Given the description of an element on the screen output the (x, y) to click on. 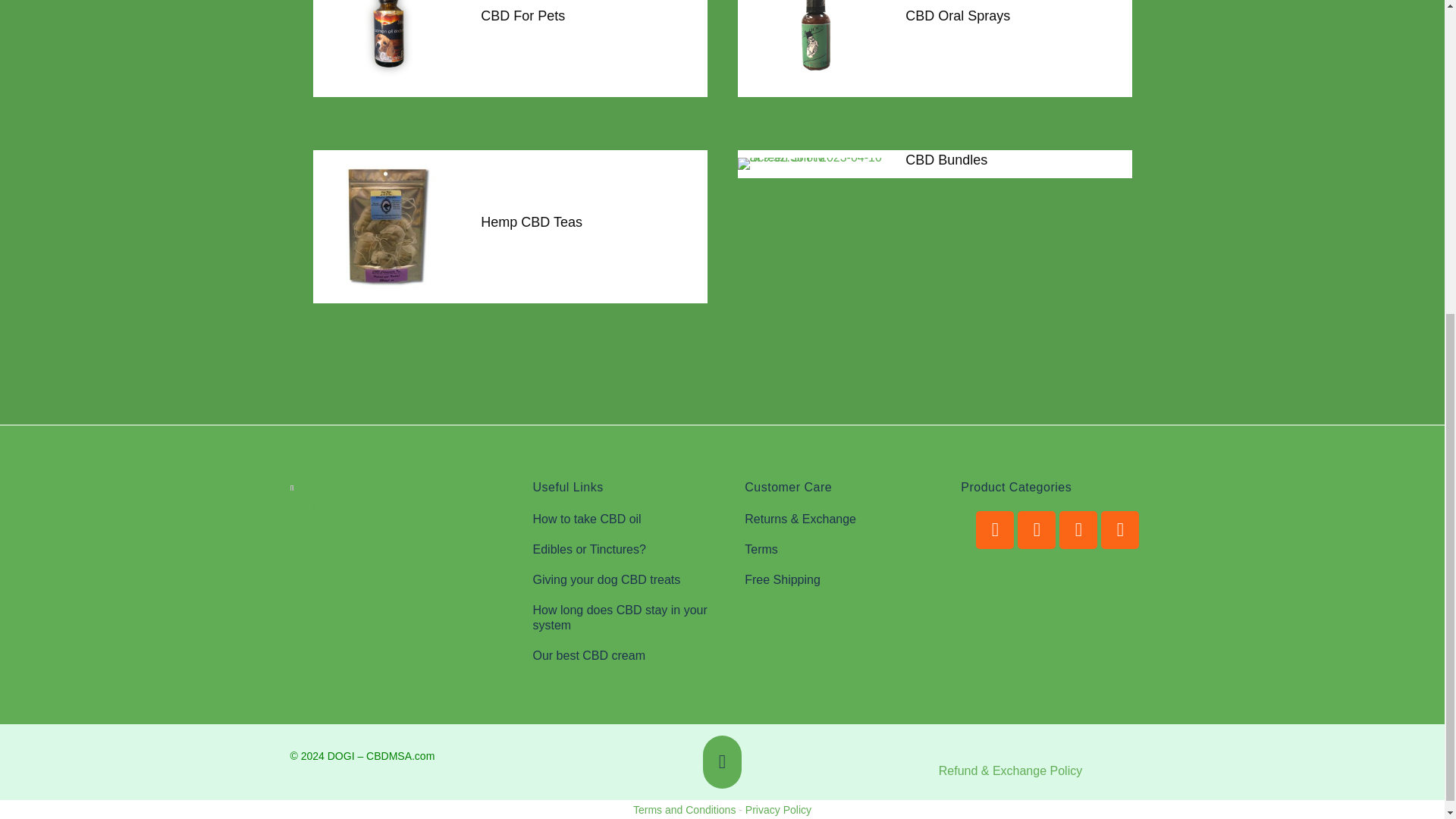
CBD For Pets (522, 15)
Call now! (318, 504)
Edibles or Tinctures? (627, 549)
Janevape 200mg Chamomile CBD Tea (389, 226)
How to take CBD oil (627, 519)
Giving your dog CBD treats (627, 580)
Hemp CBD Teas (531, 222)
CBD Bundles (946, 159)
Untitled design-256 (389, 48)
1000mg oral spray chocolate mint (812, 48)
Screen Shot 2023-04-10 at 9.52.35 PM (812, 163)
CBD Oral Sprays (957, 15)
How long does CBD stay in your system (627, 617)
Our best CBD cream (627, 655)
